Given the description of an element on the screen output the (x, y) to click on. 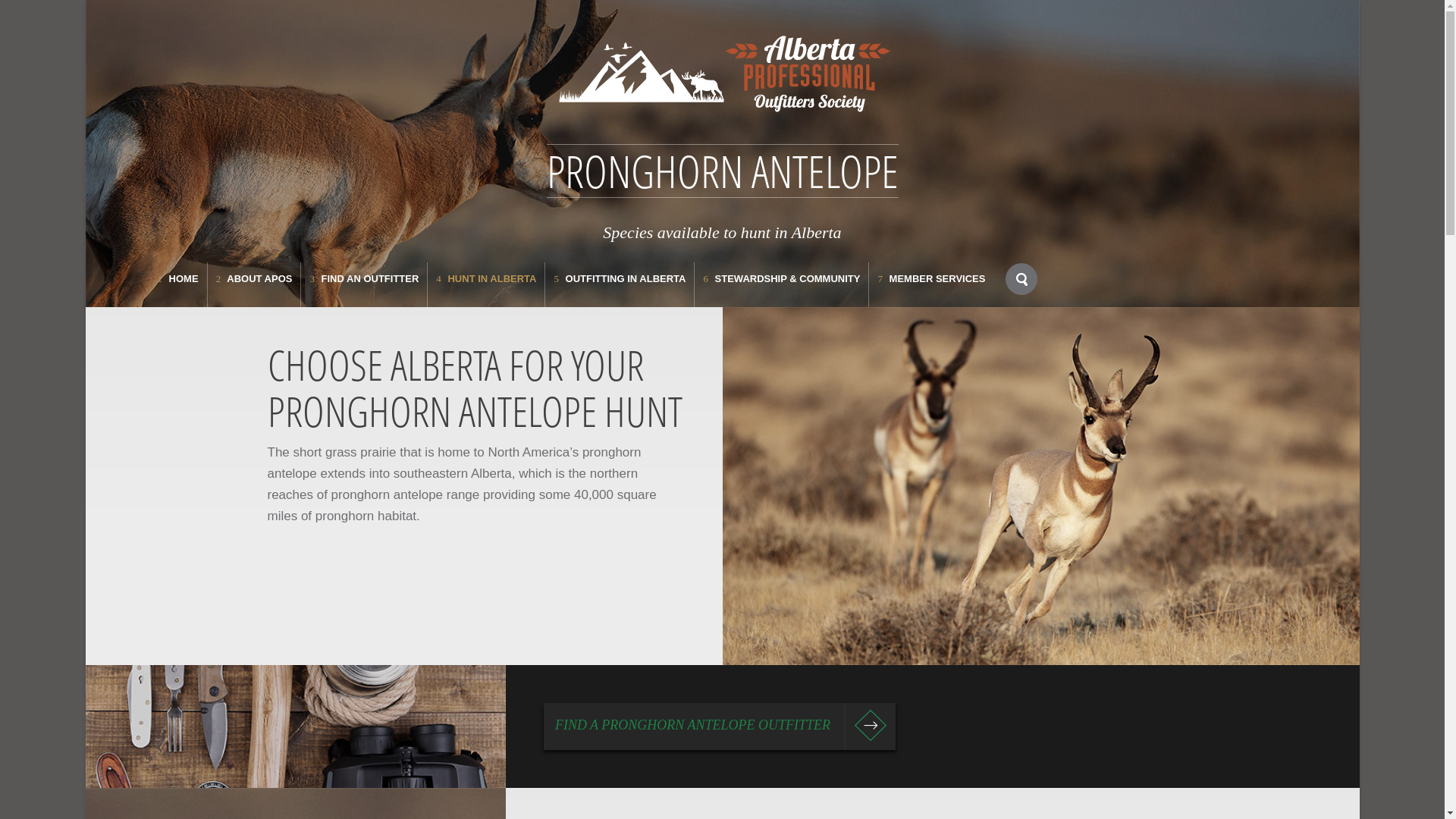
7 MEMBER SERVICES Element type: text (931, 284)
2 ABOUT APOS Element type: text (254, 284)
6 STEWARDSHIP & COMMUNITY Element type: text (781, 284)
3 FIND AN OUTFITTER Element type: text (363, 284)
1 HOME Element type: text (177, 284)
FIND A PRONGHORN ANTELOPE OUTFITTER Element type: text (719, 725)
4 HUNT IN ALBERTA Element type: text (485, 284)
Alberta Professional Outfitters Society Element type: text (721, 71)
5 OUTFITTING IN ALBERTA Element type: text (619, 284)
